Given the description of an element on the screen output the (x, y) to click on. 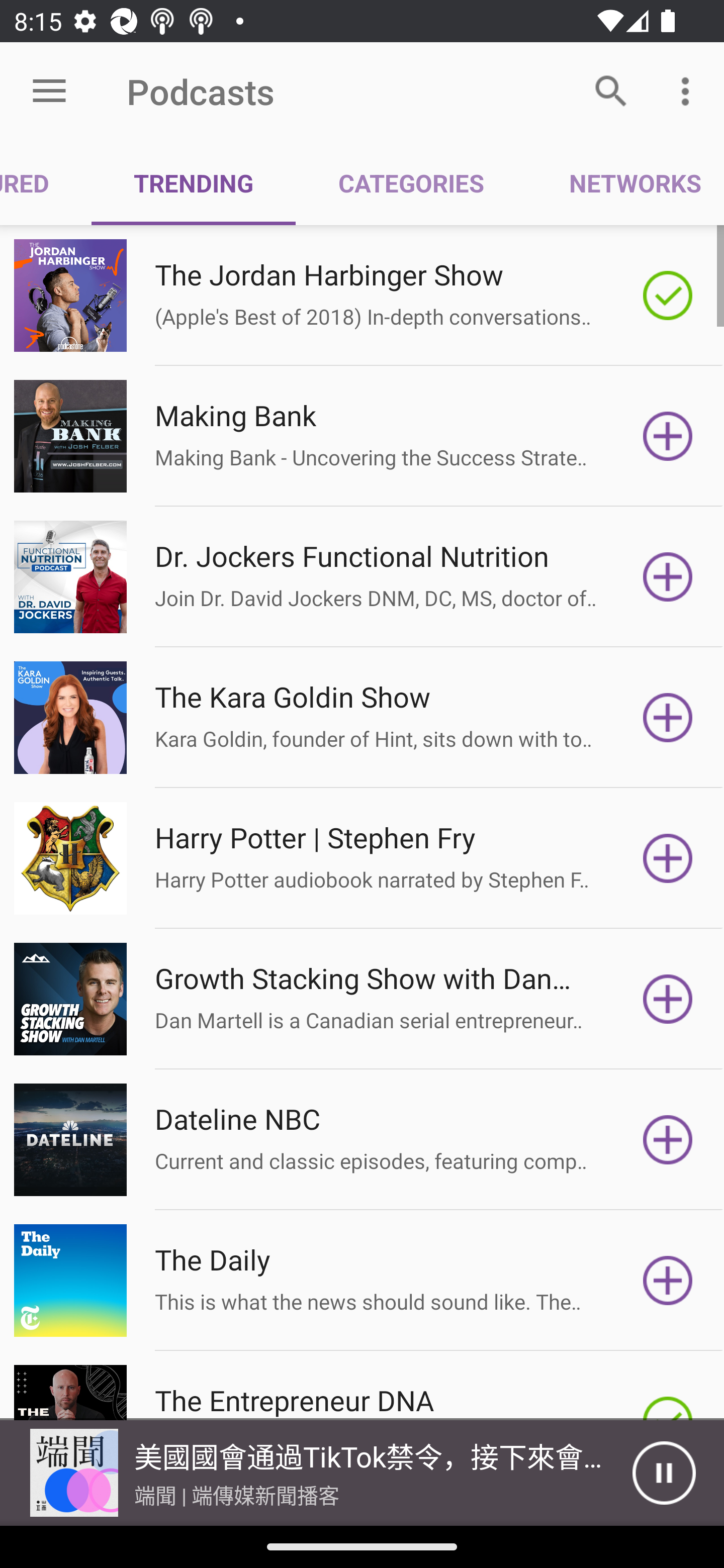
Open menu (49, 91)
Search (611, 90)
More options (688, 90)
TRENDING (193, 183)
CATEGORIES (410, 183)
NETWORKS (625, 183)
Subscribed (667, 295)
Subscribe (667, 435)
Subscribe (667, 576)
Subscribe (667, 717)
Subscribe (667, 858)
Subscribe (667, 998)
Subscribe (667, 1139)
Subscribe (667, 1280)
Picture 美國國會通過TikTok禁令，接下來會發生什麼？ 端聞 | 端傳媒新聞播客 (316, 1472)
Pause (663, 1472)
